Given the description of an element on the screen output the (x, y) to click on. 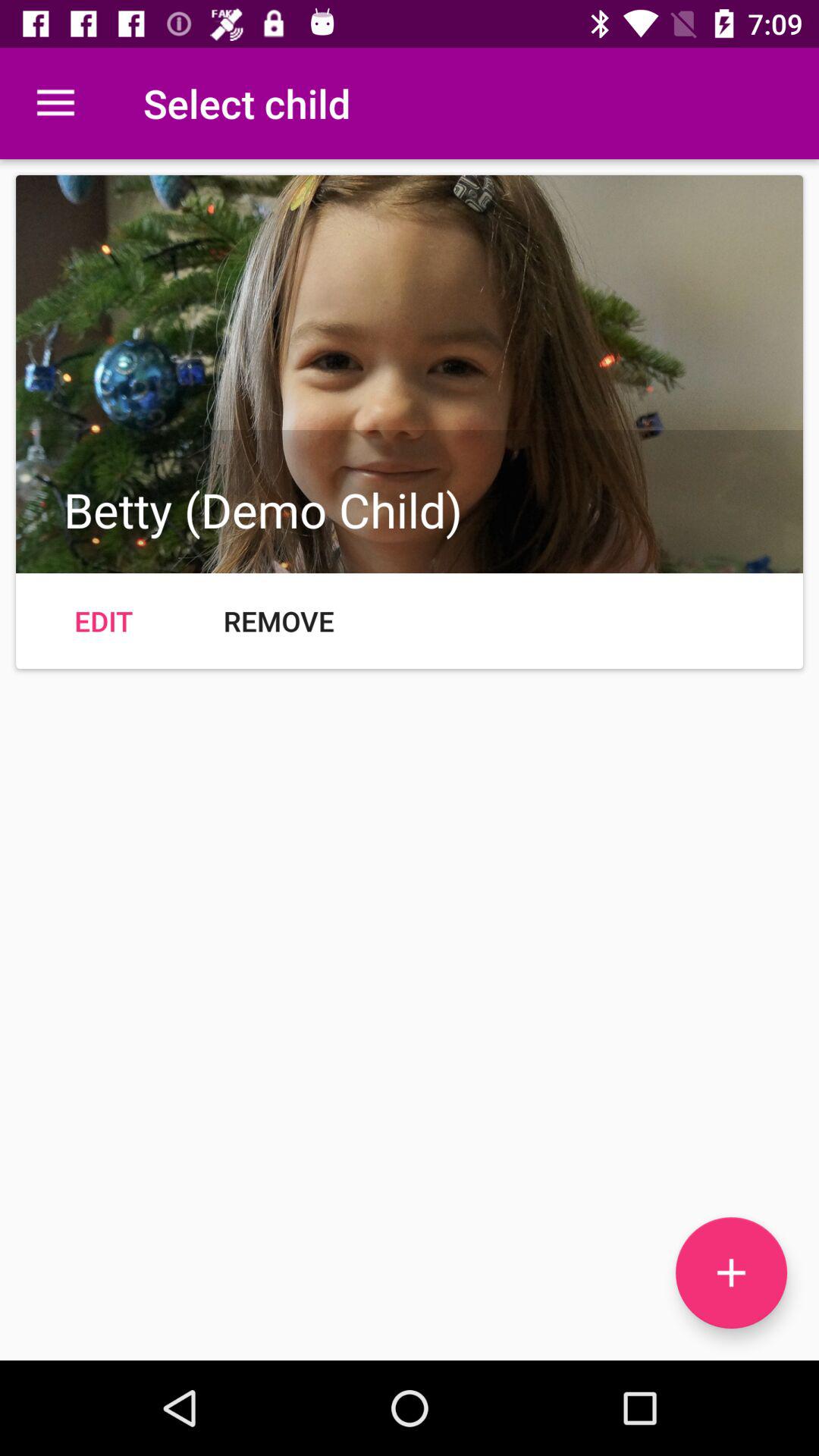
choose icon to the right of edit icon (278, 620)
